Given the description of an element on the screen output the (x, y) to click on. 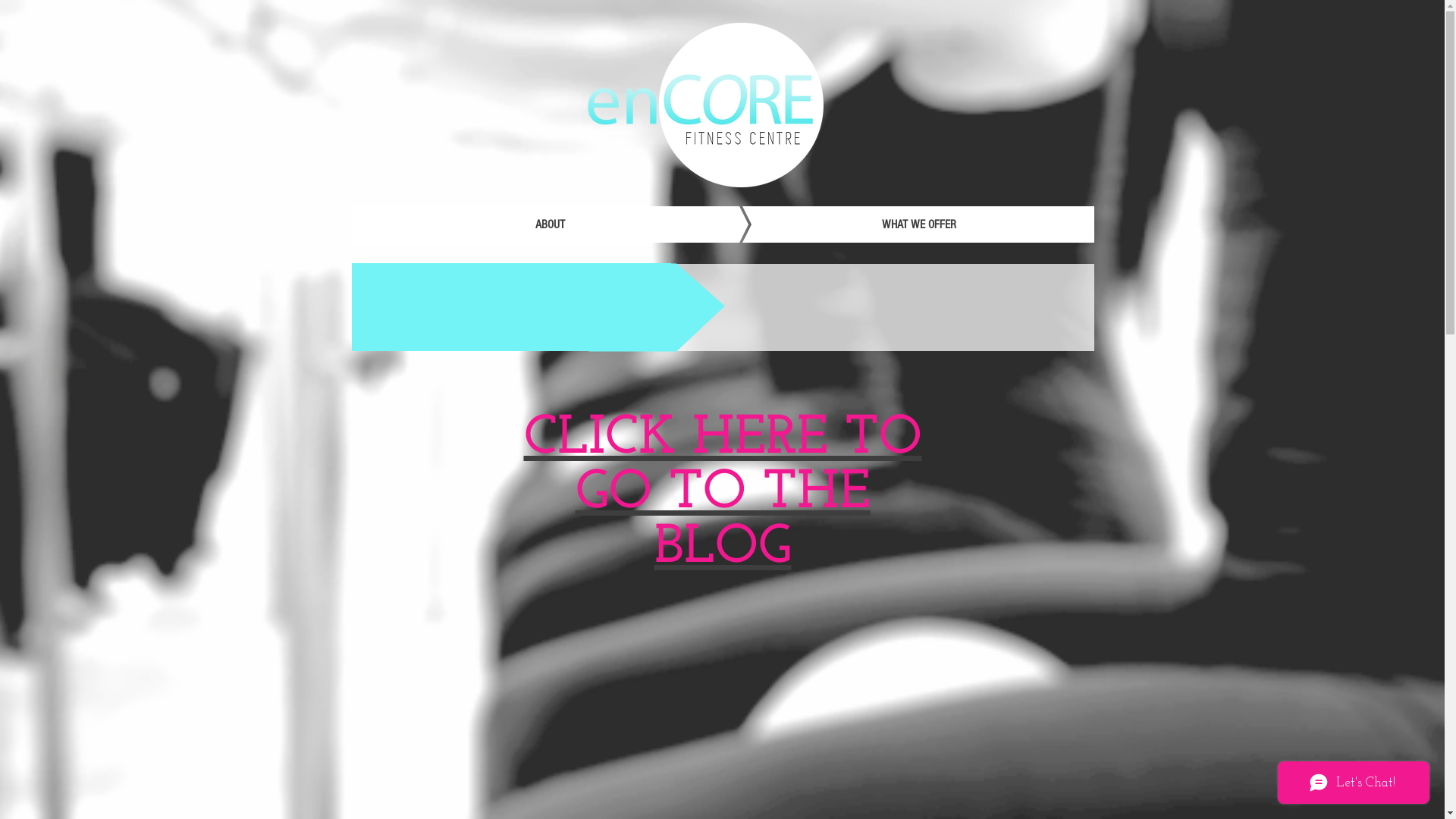
CLICK HERE TO GO TO THE BLOG Element type: text (722, 493)
ABOUT Element type: text (549, 224)
